Given the description of an element on the screen output the (x, y) to click on. 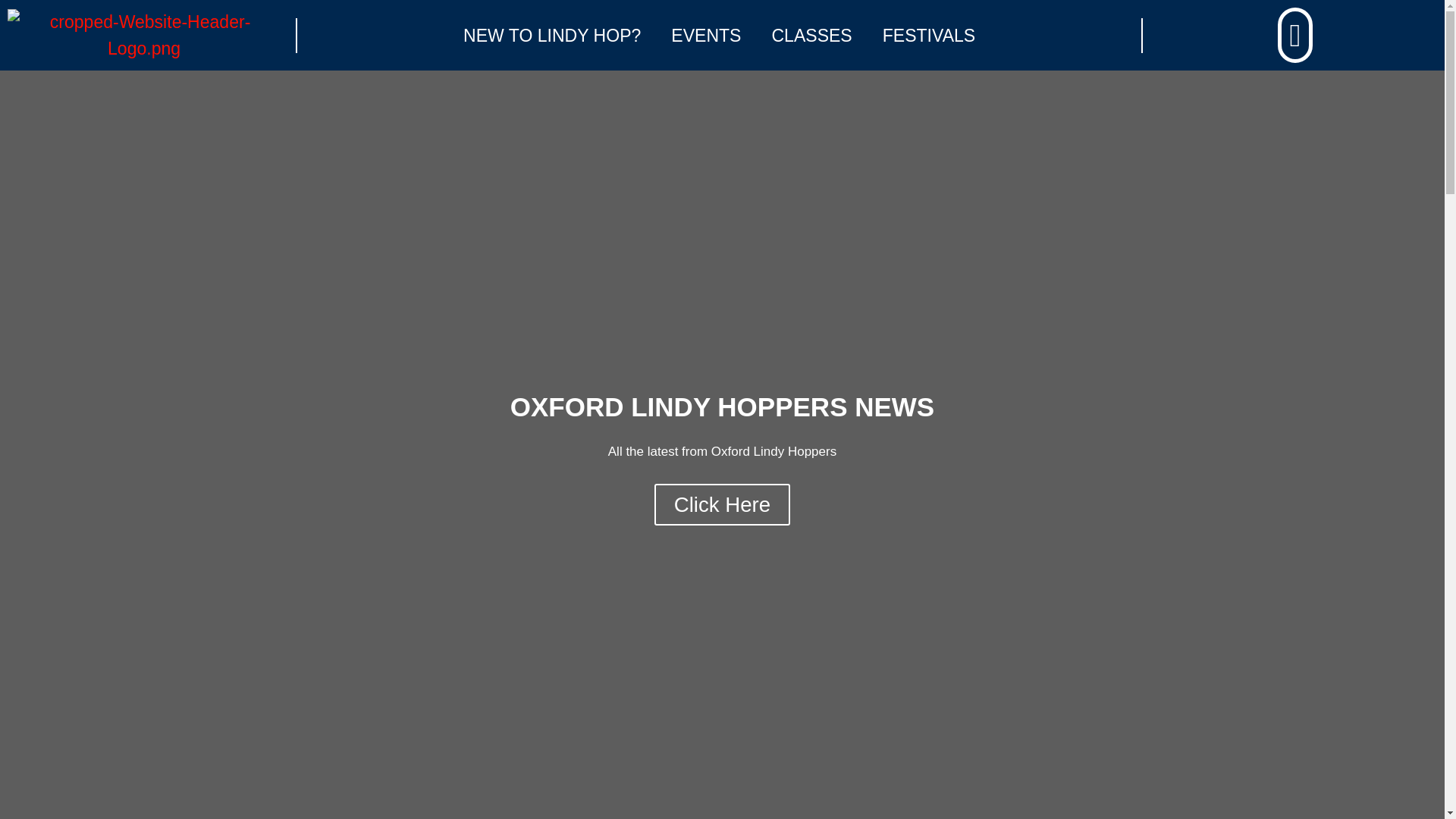
EVENTS (705, 35)
FESTIVALS (928, 35)
NEW TO LINDY HOP? (552, 35)
CLASSES (810, 35)
cropped-Website-Header-Logo.png (144, 35)
